Given the description of an element on the screen output the (x, y) to click on. 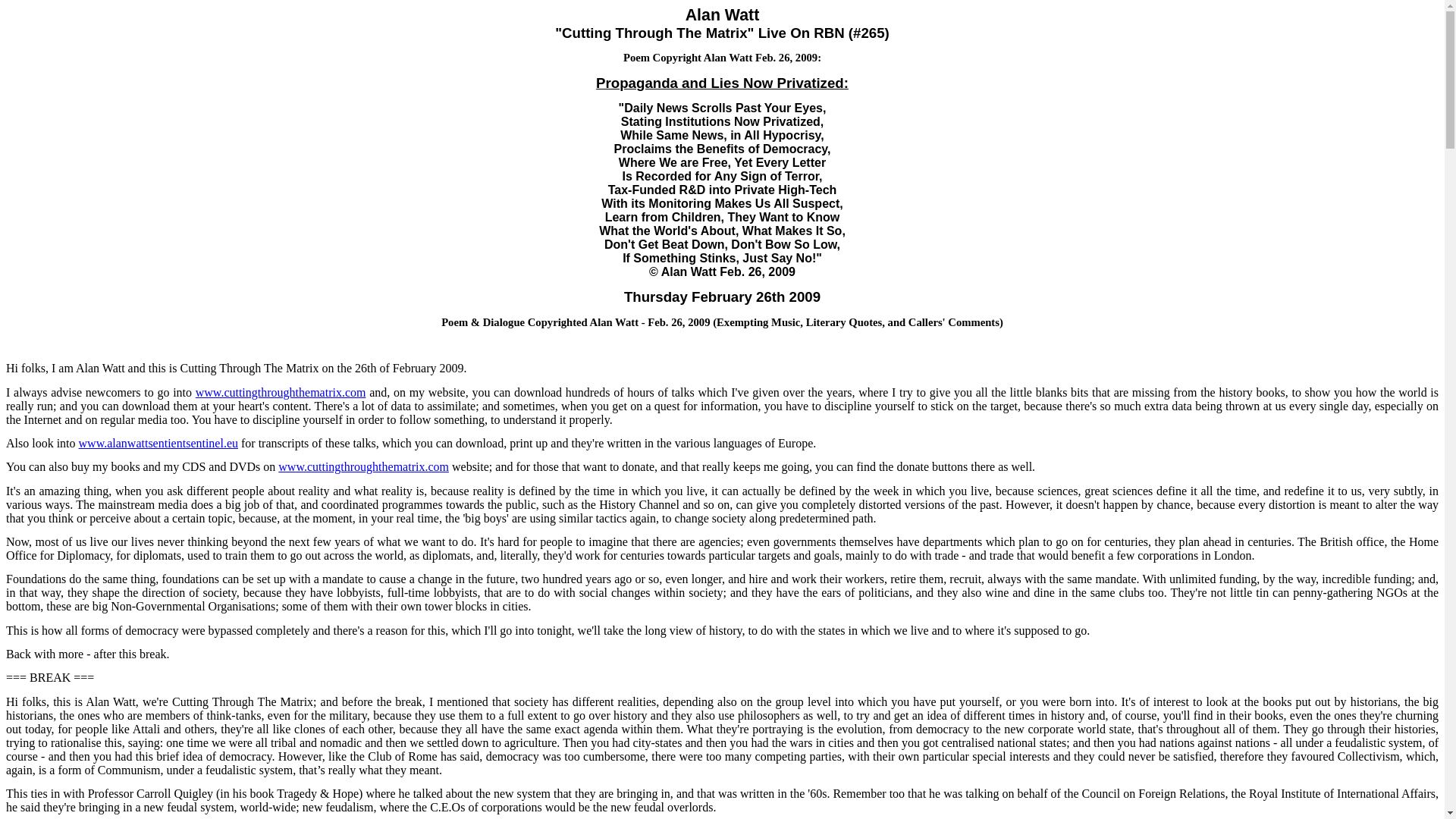
www.alanwattsentientsentinel.eu (158, 442)
www.cuttingthroughthematrix.com (363, 466)
www.cuttingthroughthematrix.com (280, 391)
